Given the description of an element on the screen output the (x, y) to click on. 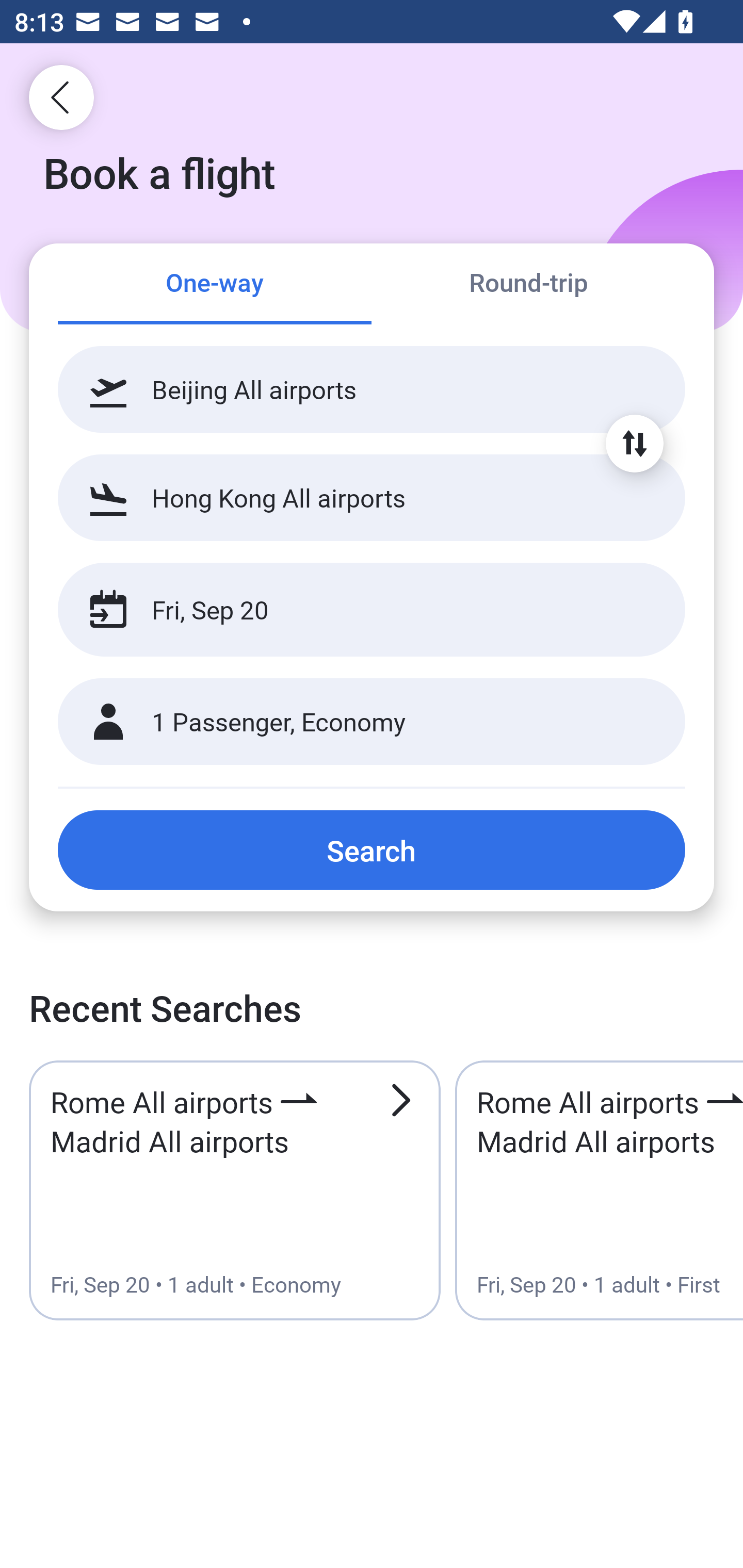
Round-trip (528, 284)
Beijing All airports (371, 389)
Hong Kong All airports (371, 497)
Fri, Sep 20 (349, 609)
1 Passenger, Economy (371, 721)
Search (371, 849)
